Given the description of an element on the screen output the (x, y) to click on. 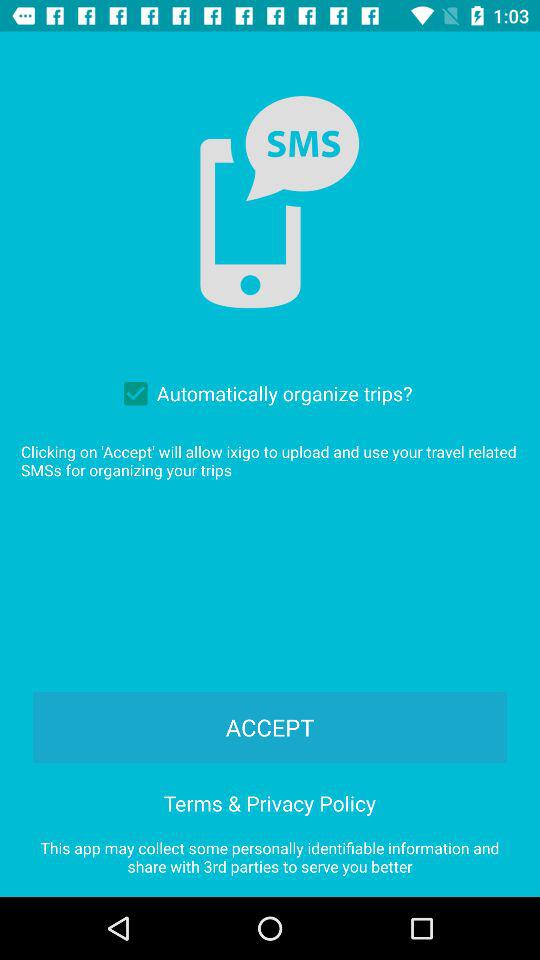
choose item above the clicking on accept item (263, 393)
